Given the description of an element on the screen output the (x, y) to click on. 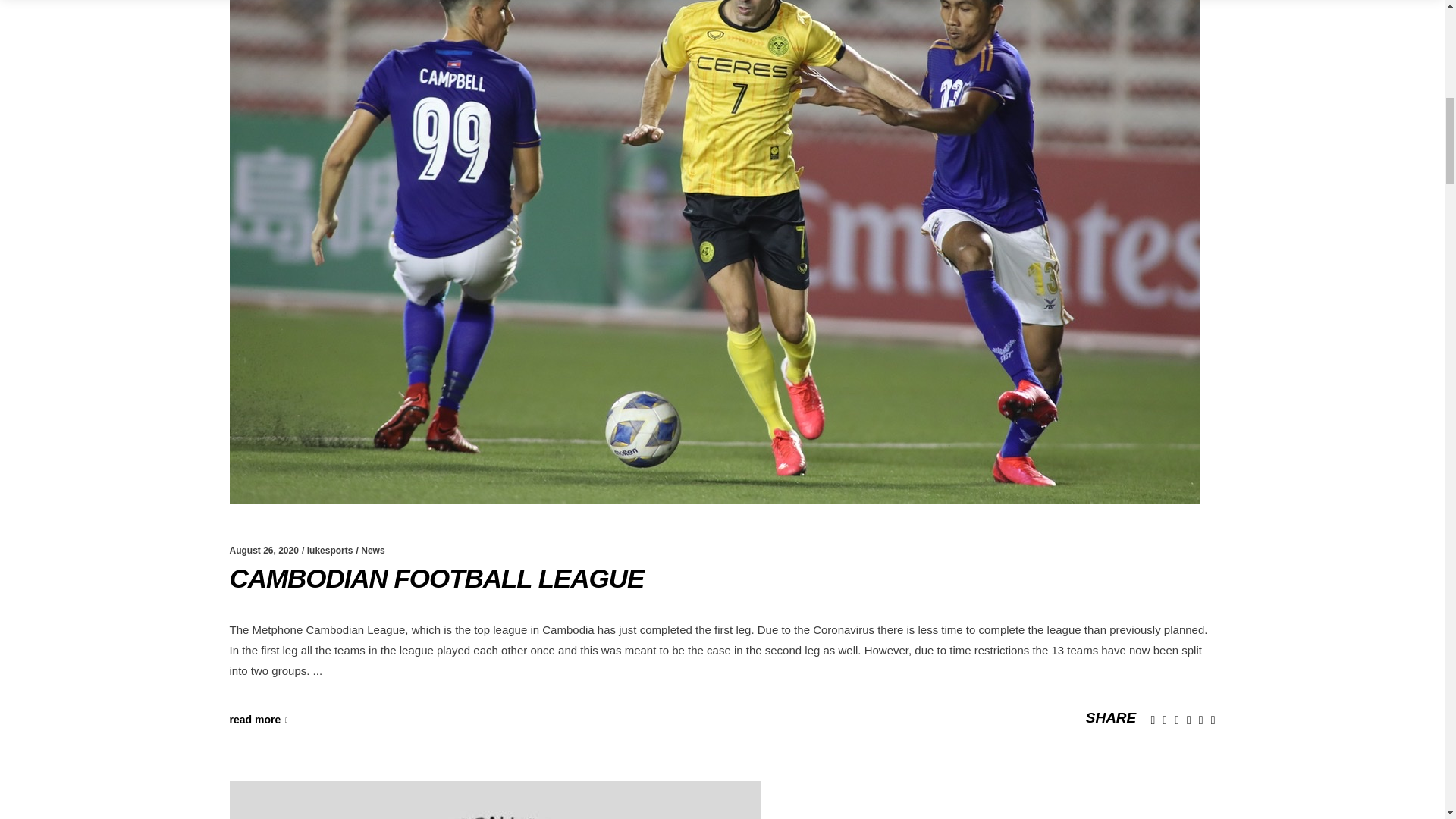
Professional Football Leagues in Southeast Asia (494, 800)
Cambodian Football League (435, 577)
